Given the description of an element on the screen output the (x, y) to click on. 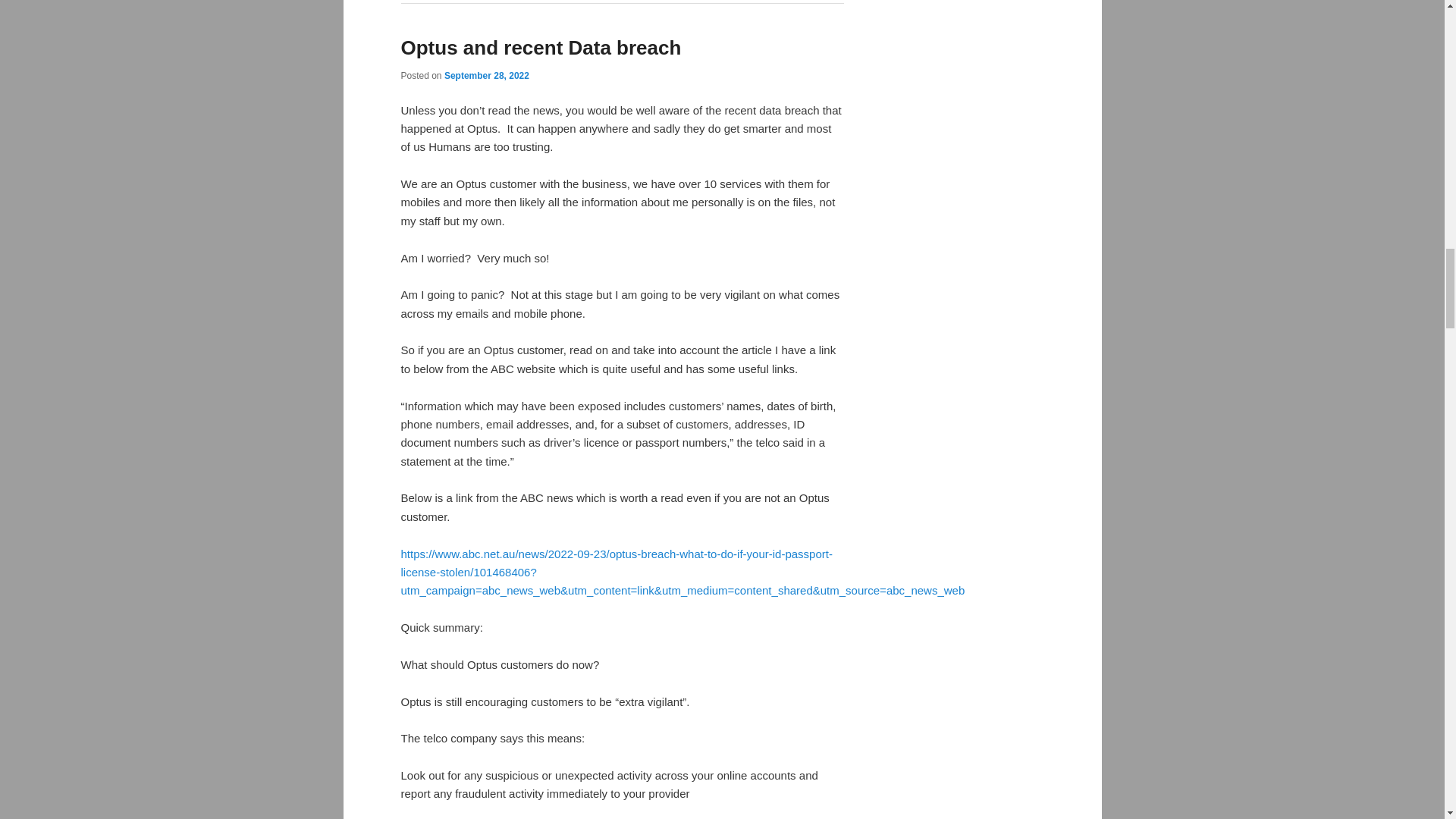
8:03 AM (486, 75)
Optus and recent Data breach (540, 47)
September 28, 2022 (486, 75)
